Given the description of an element on the screen output the (x, y) to click on. 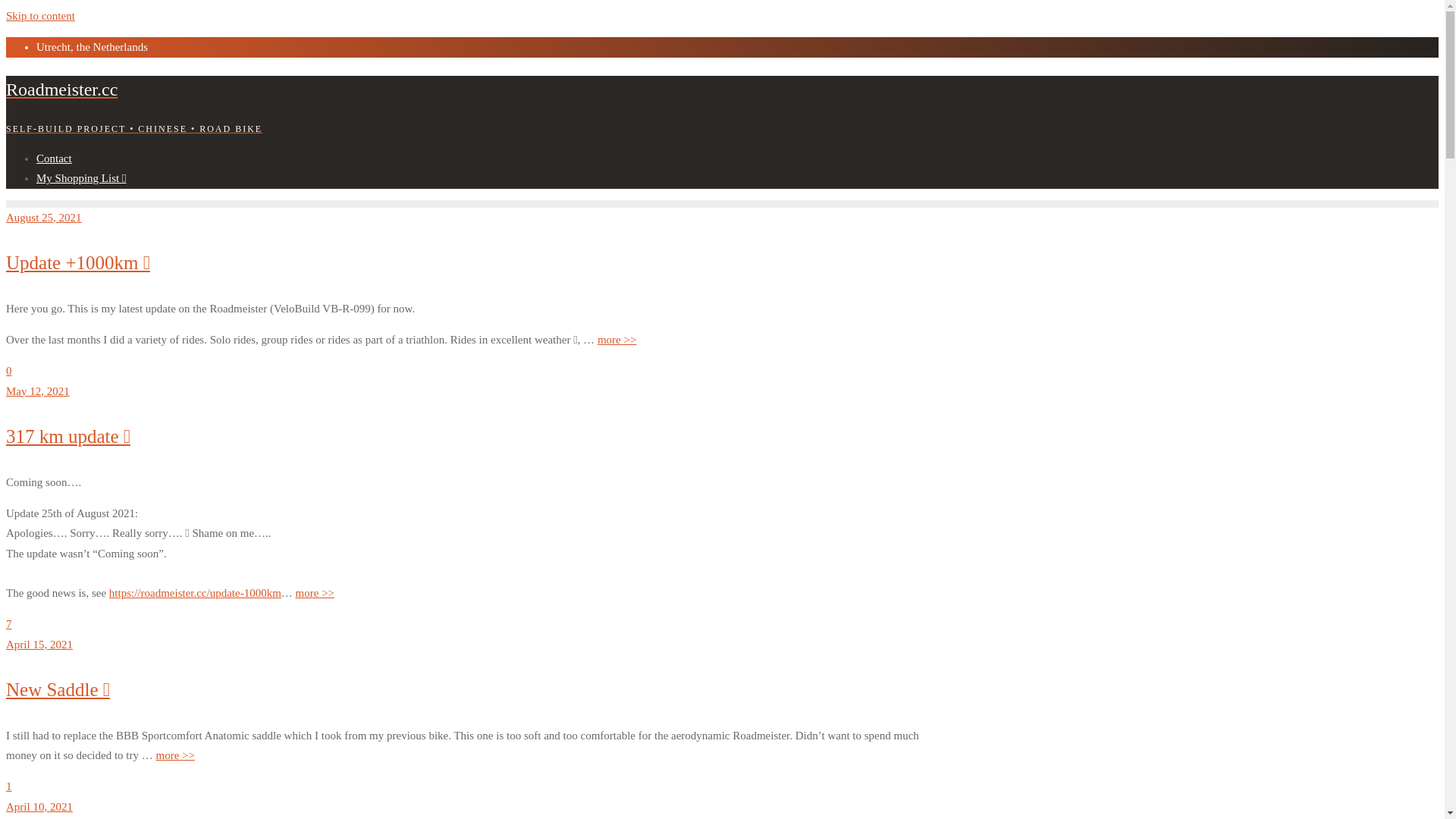
0 Element type: text (9, 370)
August 25, 2021 Element type: text (43, 217)
Contact Element type: text (54, 158)
May 12, 2021 Element type: text (37, 391)
April 15, 2021 Element type: text (39, 644)
more >> Element type: text (174, 755)
https://roadmeister.cc/update-1000km Element type: text (195, 592)
April 10, 2021 Element type: text (39, 806)
1 Element type: text (9, 786)
Skip to content Element type: text (40, 15)
more >> Element type: text (315, 592)
more >> Element type: text (617, 339)
7 Element type: text (9, 624)
